Given the description of an element on the screen output the (x, y) to click on. 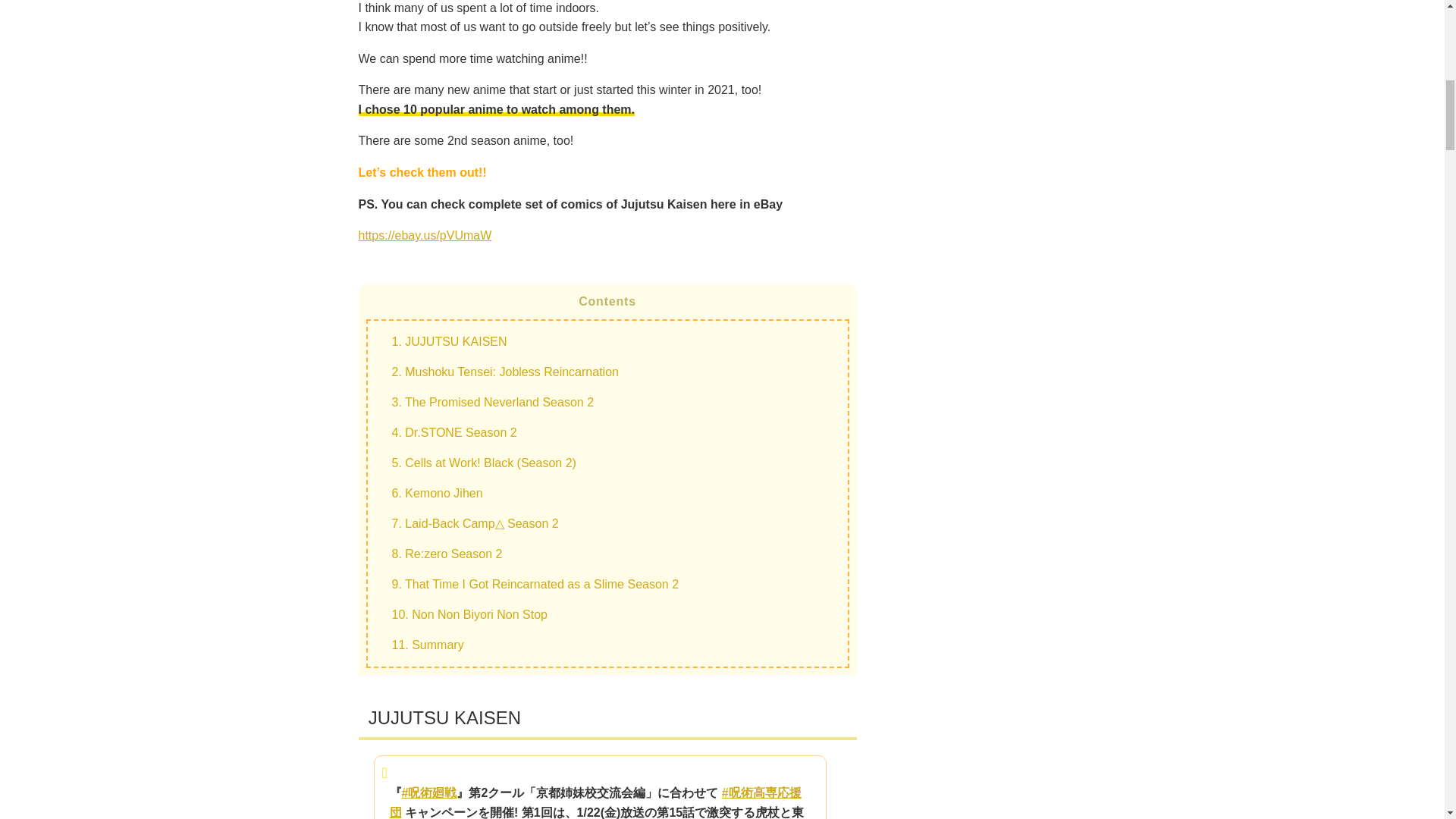
6. Kemono Jihen (436, 492)
3. The Promised Neverland Season 2 (492, 401)
2. Mushoku Tensei: Jobless Reincarnation (504, 371)
11. Summary (427, 644)
10. Non Non Biyori Non Stop (469, 614)
9. That Time I Got Reincarnated as a Slime Season 2 (534, 584)
1. JUJUTSU KAISEN (448, 341)
8. Re:zero Season 2 (446, 553)
4. Dr.STONE Season 2 (453, 431)
